Given the description of an element on the screen output the (x, y) to click on. 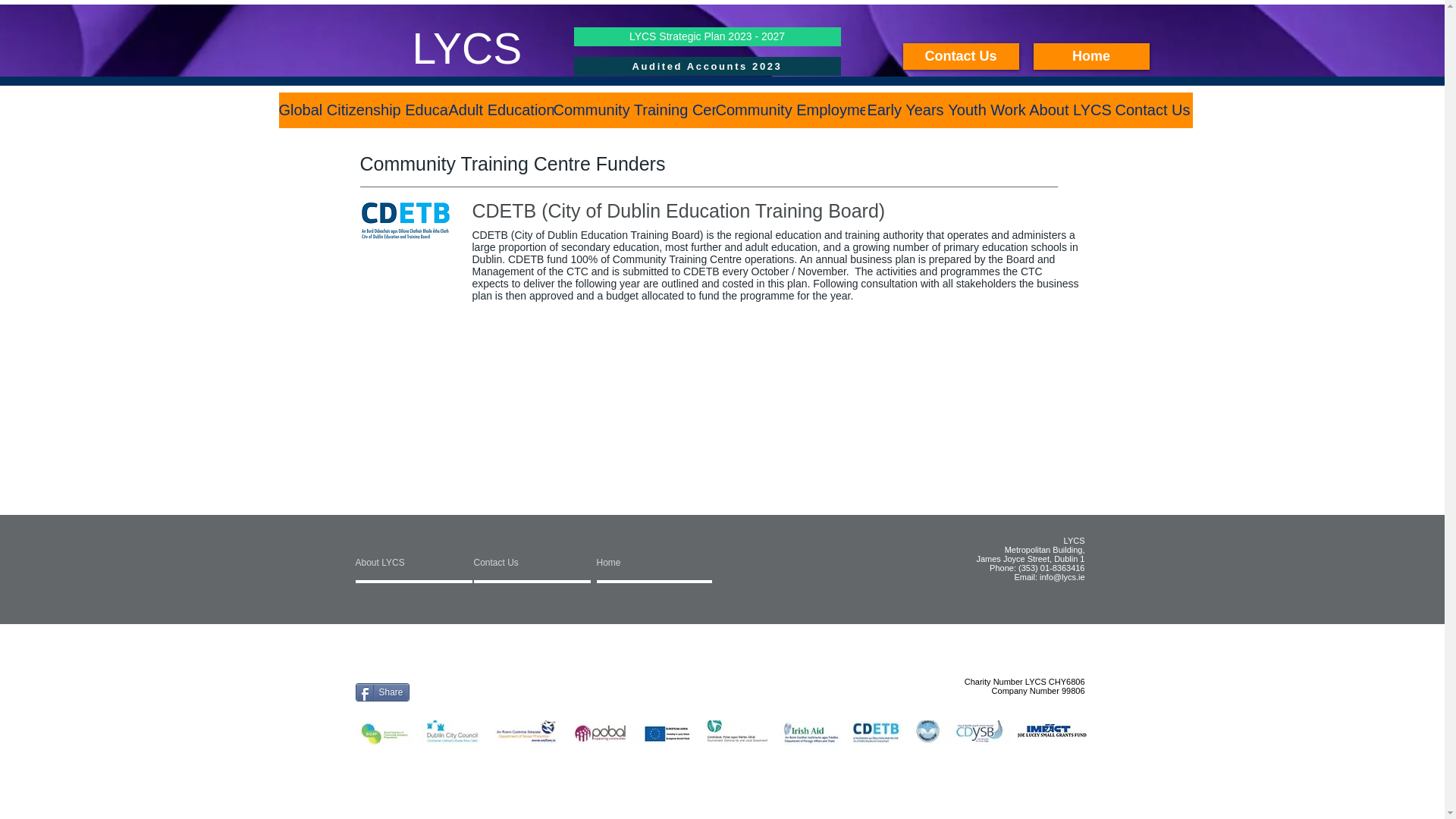
cdetb.png (405, 222)
Early Years (904, 109)
Share (382, 692)
LYCS Strategic Plan 2023 - 2027 (706, 36)
Twitter Follow (520, 692)
Audited Accounts 2023 (706, 66)
Facebook Like (452, 690)
Site Search (440, 532)
Contact Us (959, 56)
Home (1090, 56)
